Given the description of an element on the screen output the (x, y) to click on. 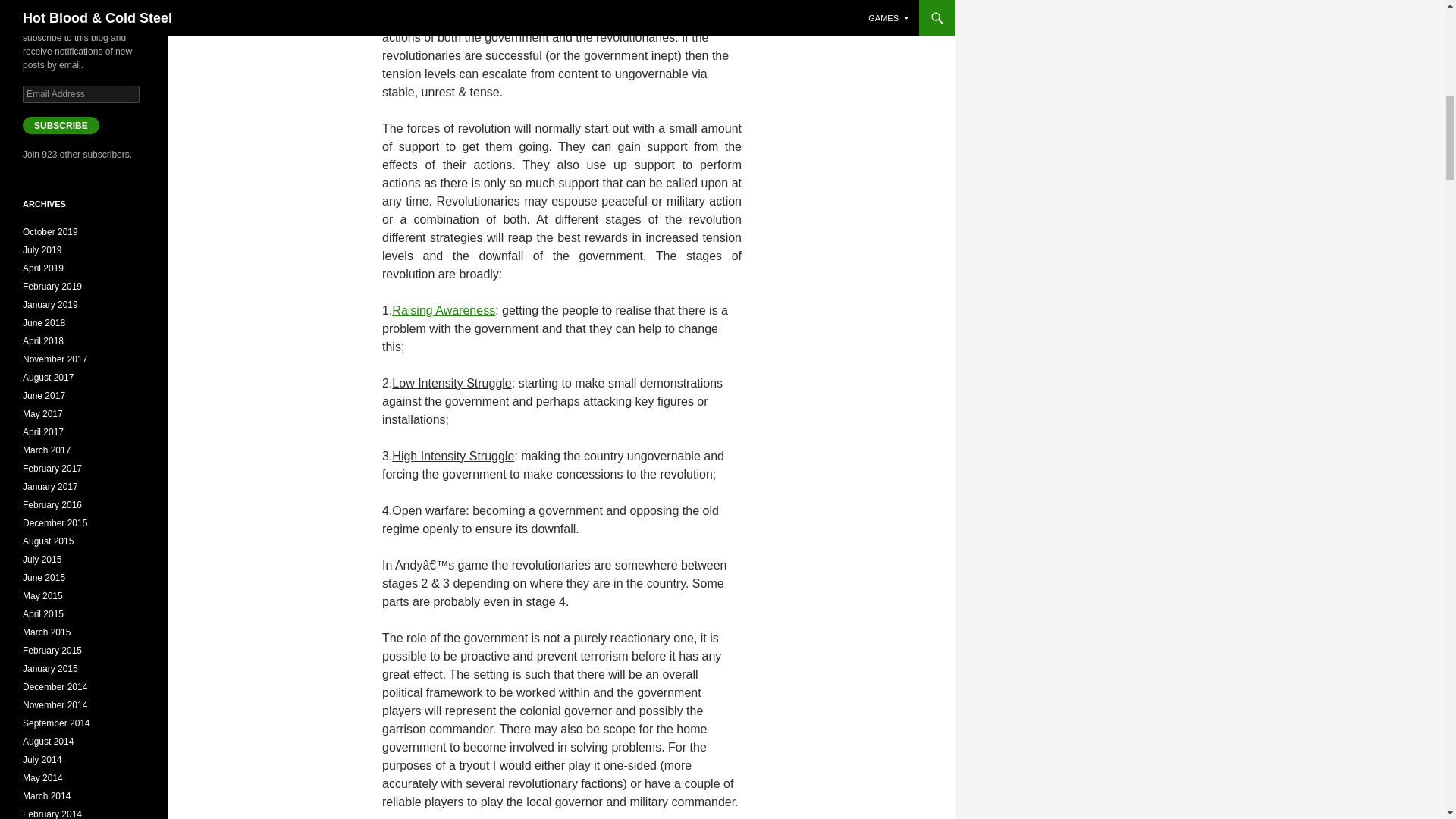
Consciousness raising (443, 309)
Sign up! (1350, 191)
Raising Awareness (443, 309)
